Given the description of an element on the screen output the (x, y) to click on. 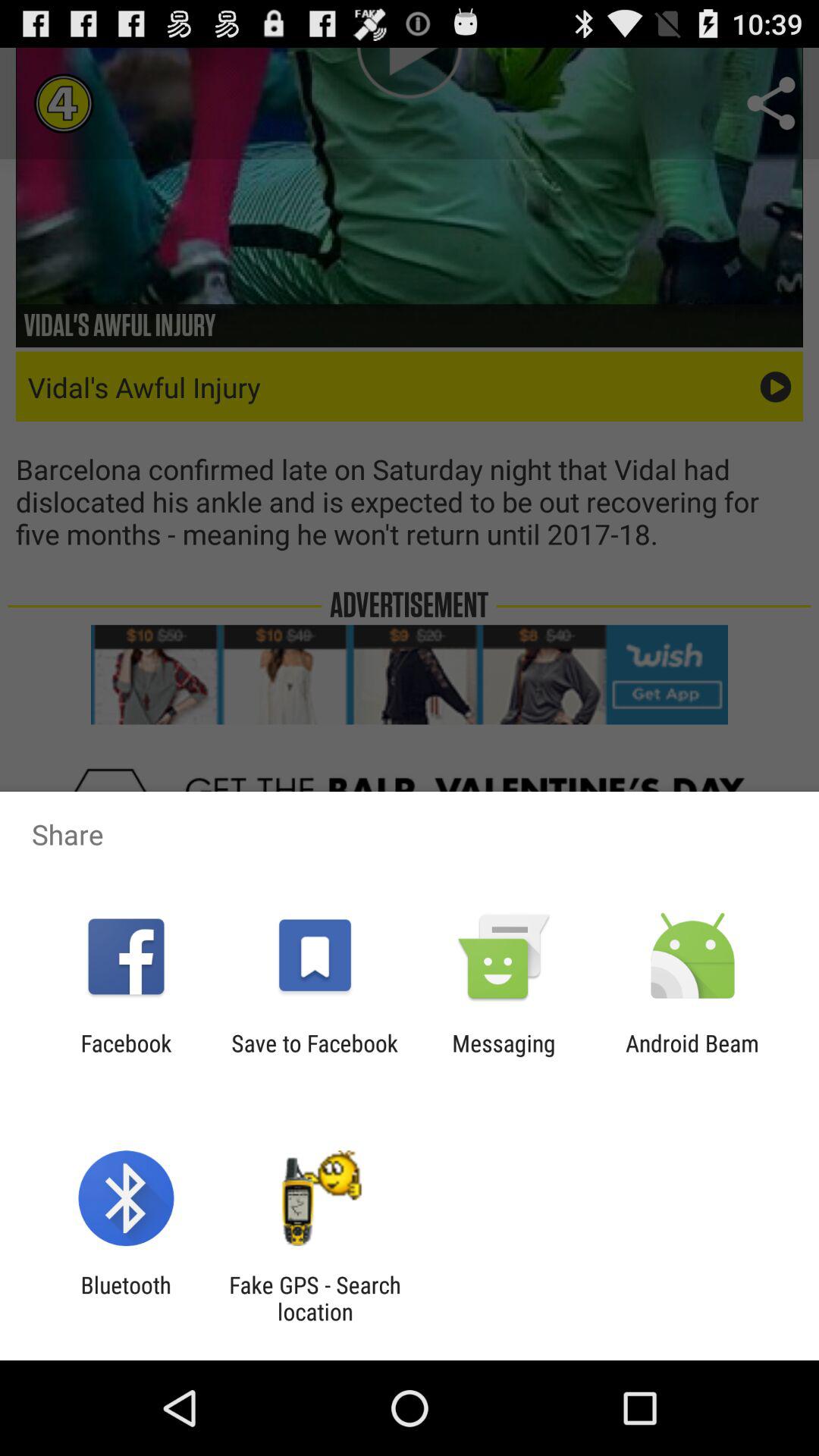
launch the app to the right of save to facebook icon (503, 1056)
